Given the description of an element on the screen output the (x, y) to click on. 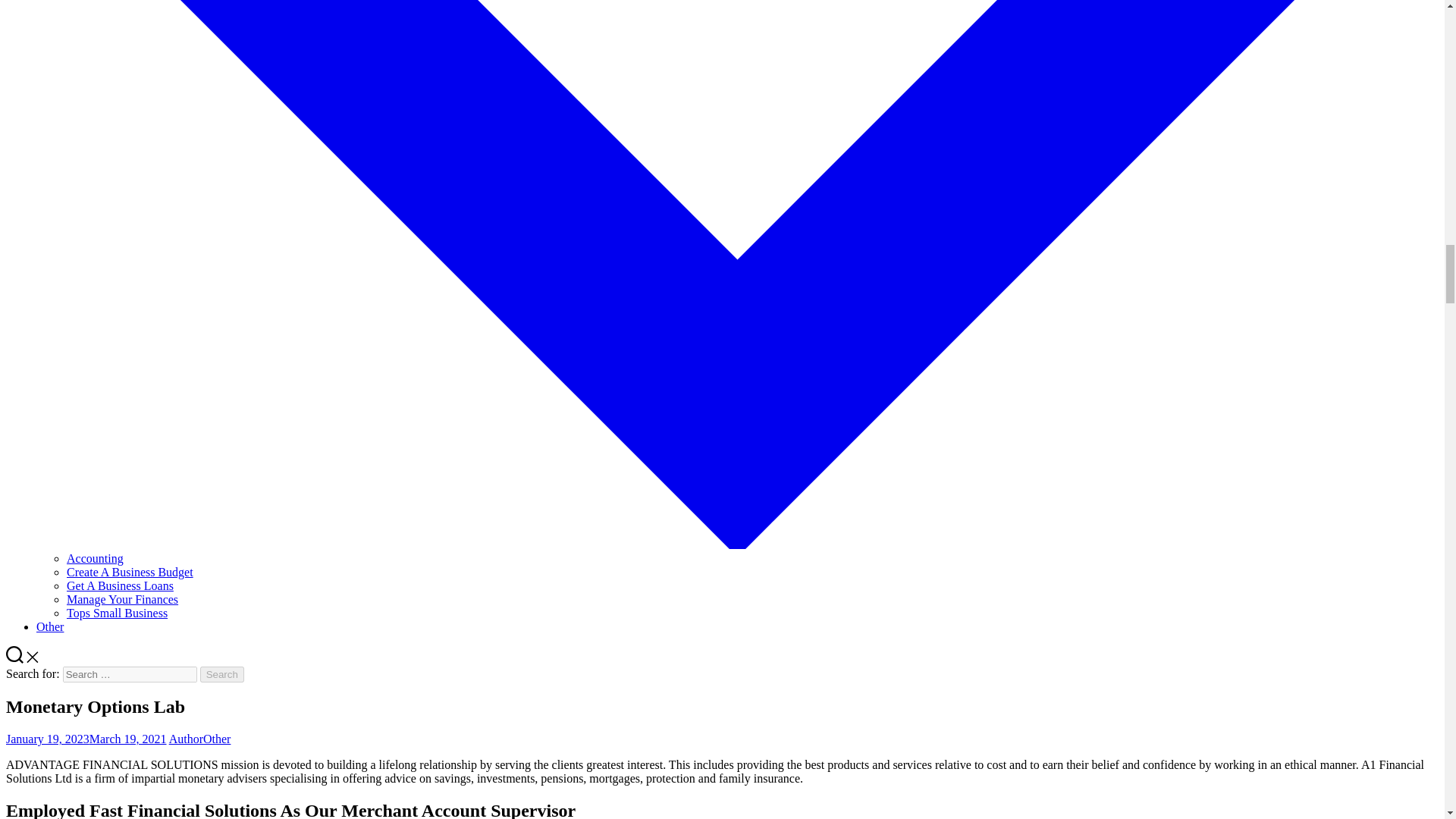
Search (222, 674)
Accounting (94, 558)
Get A Business Loans (119, 585)
Search (222, 674)
Manage Your Finances (121, 599)
Search (222, 674)
January 19, 2023March 19, 2021 (86, 738)
Tops Small Business (116, 612)
Author (185, 738)
Other (50, 626)
Other (216, 738)
Create A Business Budget (129, 571)
